Given the description of an element on the screen output the (x, y) to click on. 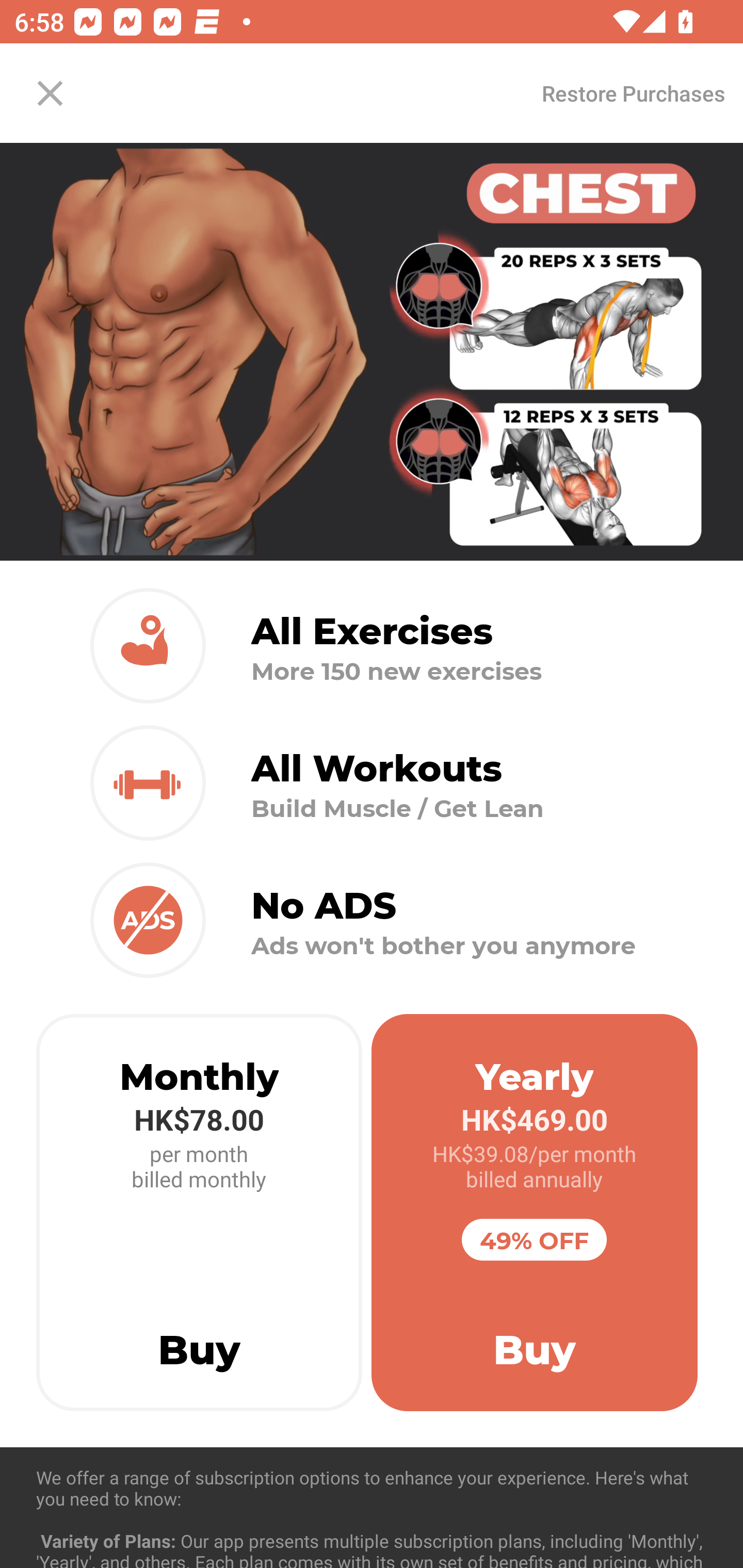
Restore Purchases (632, 92)
Monthly HK$78.00 per month
billed monthly Buy (199, 1212)
